Given the description of an element on the screen output the (x, y) to click on. 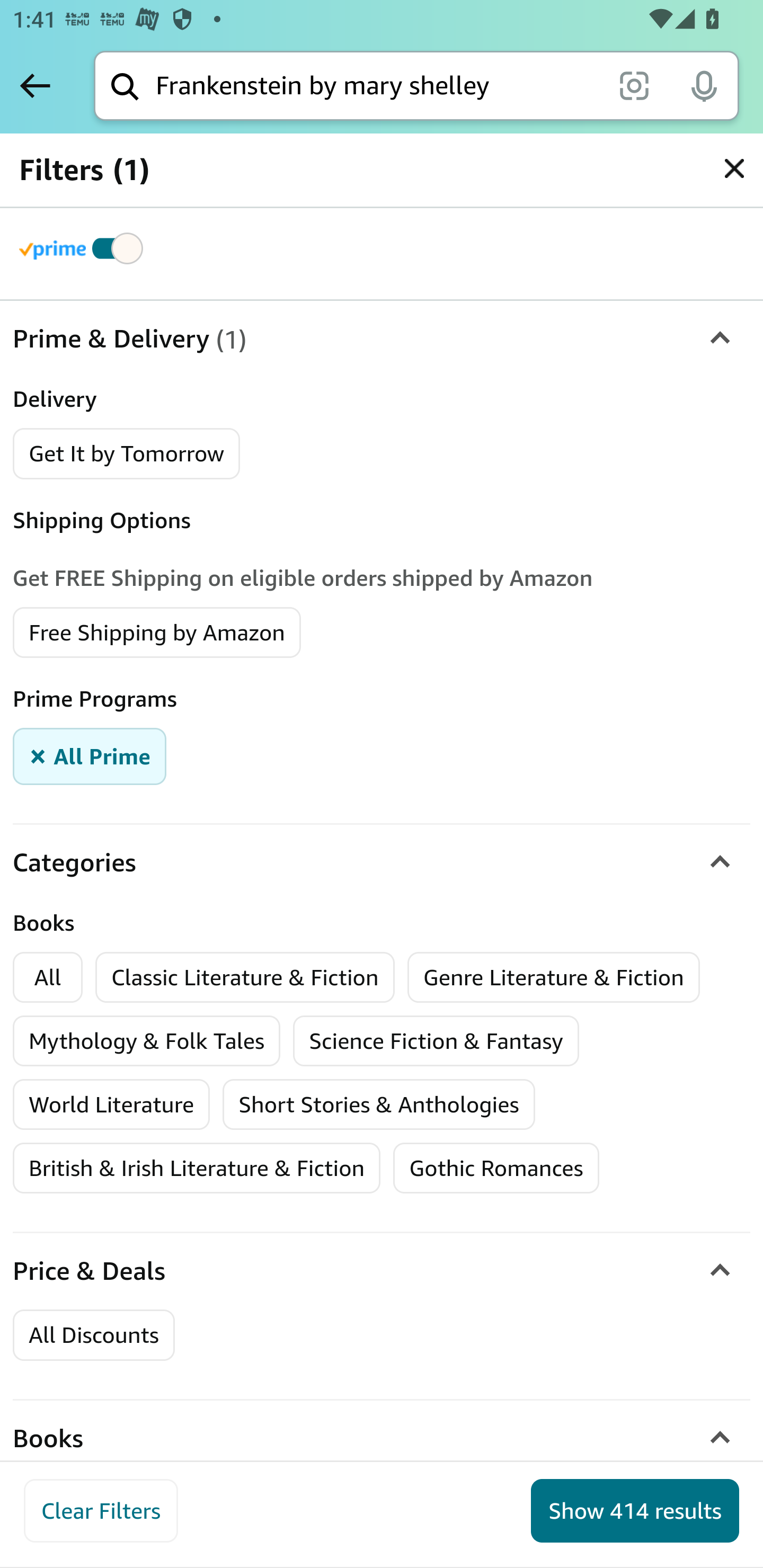
Back (35, 85)
scan it (633, 85)
Toggle to filter by Prime products Prime Eligible (83, 247)
Prime & Delivery (1) (381, 339)
Get It by Tomorrow (126, 453)
Free Shipping by Amazon (157, 631)
× All Prime × All Prime (89, 755)
Categories (381, 862)
All (47, 976)
Classic Literature & Fiction (245, 976)
Genre Literature & Fiction (553, 976)
Mythology & Folk Tales (146, 1040)
Science Fiction & Fantasy (435, 1040)
World Literature (111, 1105)
Short Stories & Anthologies (378, 1105)
British & Irish Literature & Fiction (196, 1168)
Gothic Romances (495, 1168)
Price & Deals (381, 1271)
All Discounts (93, 1335)
Books (381, 1439)
Clear Filters (100, 1510)
Show 414 results (635, 1510)
